Given the description of an element on the screen output the (x, y) to click on. 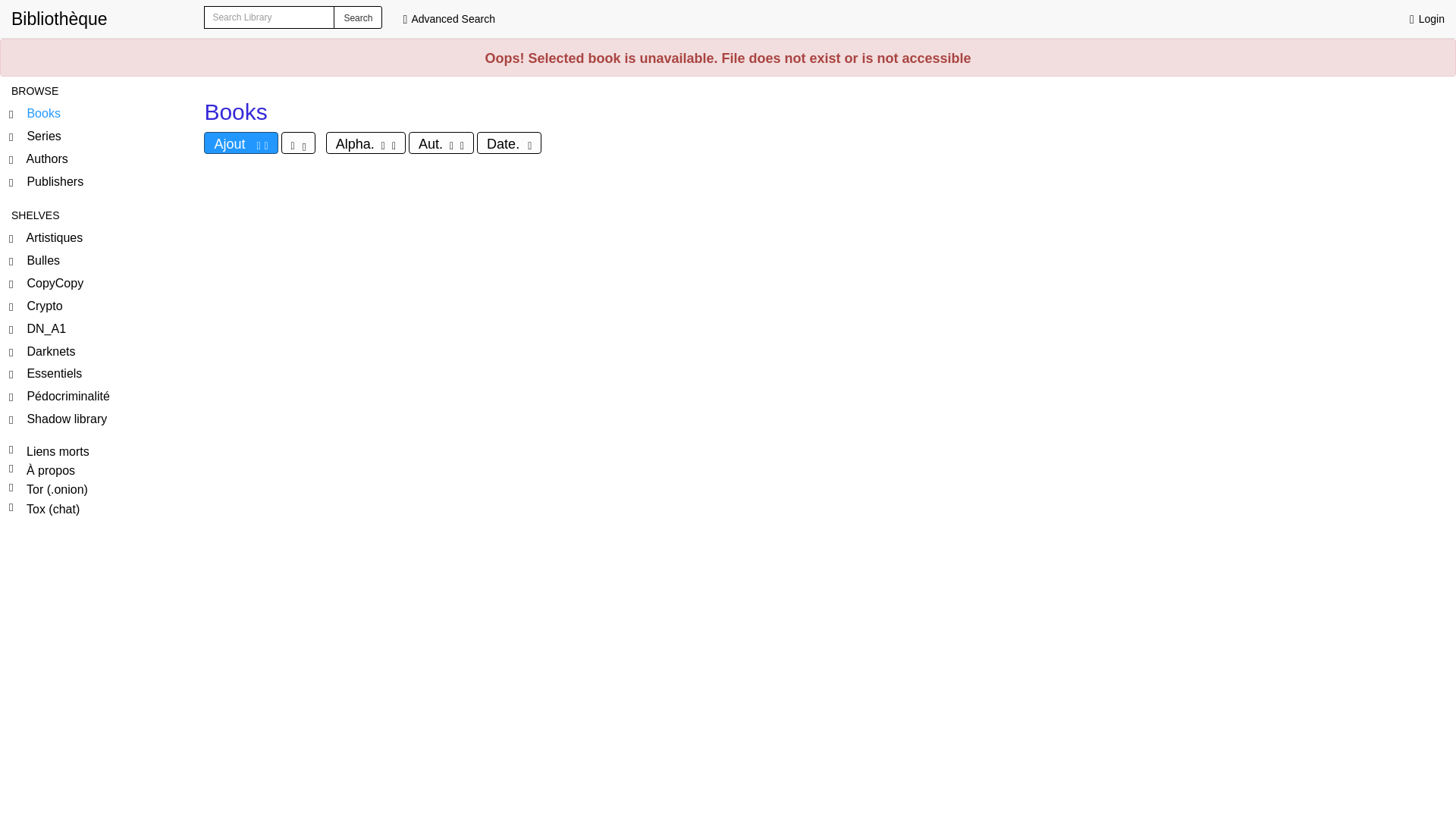
Publishers (95, 182)
Books (95, 114)
Sort according to book date, oldest first (298, 142)
Authors (95, 159)
Shadow library (95, 419)
Darknets (95, 352)
Advanced Search (449, 18)
Sort authors in alphabetical order (441, 142)
Crypto (95, 306)
Sort according to publishing date, newest first (509, 142)
